Given the description of an element on the screen output the (x, y) to click on. 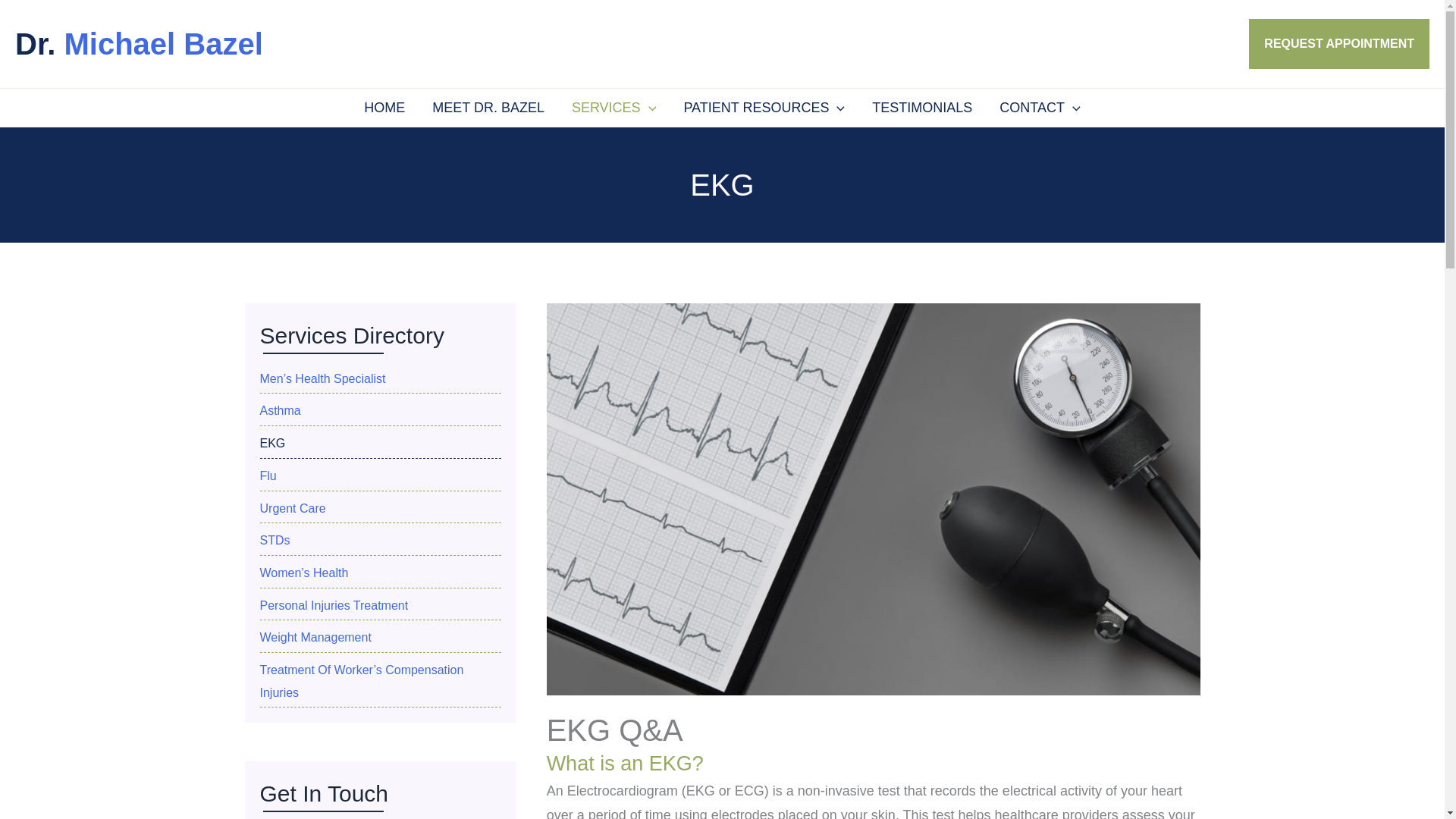
Urgent Care (379, 508)
STDs (379, 540)
MEET DR. BAZEL (488, 107)
Flu (379, 476)
SERVICES (613, 107)
Weight Management (379, 637)
Dr. Michael Bazel (138, 43)
EKG (379, 443)
Personal Injuries Treatment (379, 605)
HOME (384, 107)
